Given the description of an element on the screen output the (x, y) to click on. 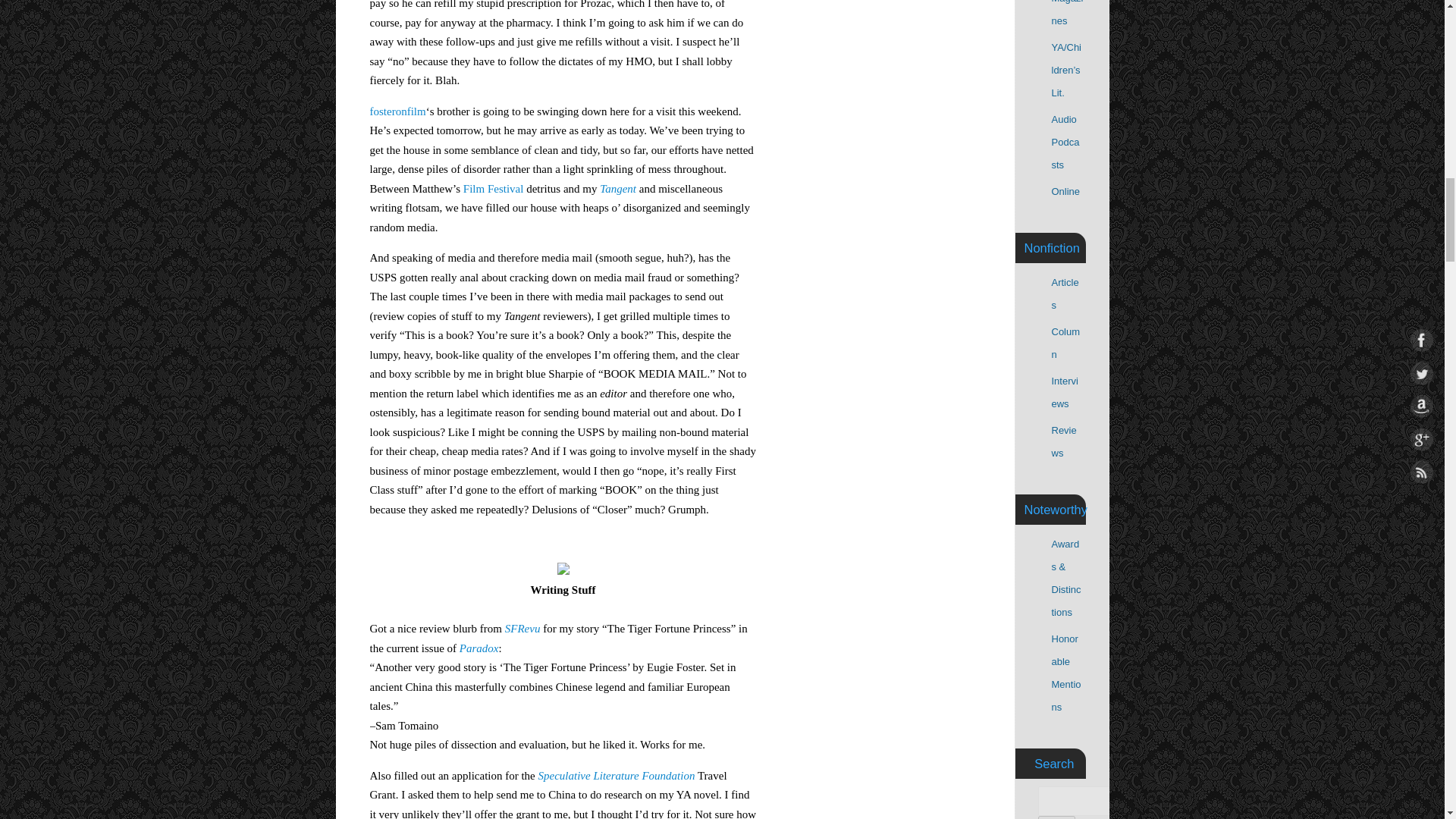
Film Festival (493, 188)
fosteronfilm (397, 111)
GO (1055, 817)
